Given the description of an element on the screen output the (x, y) to click on. 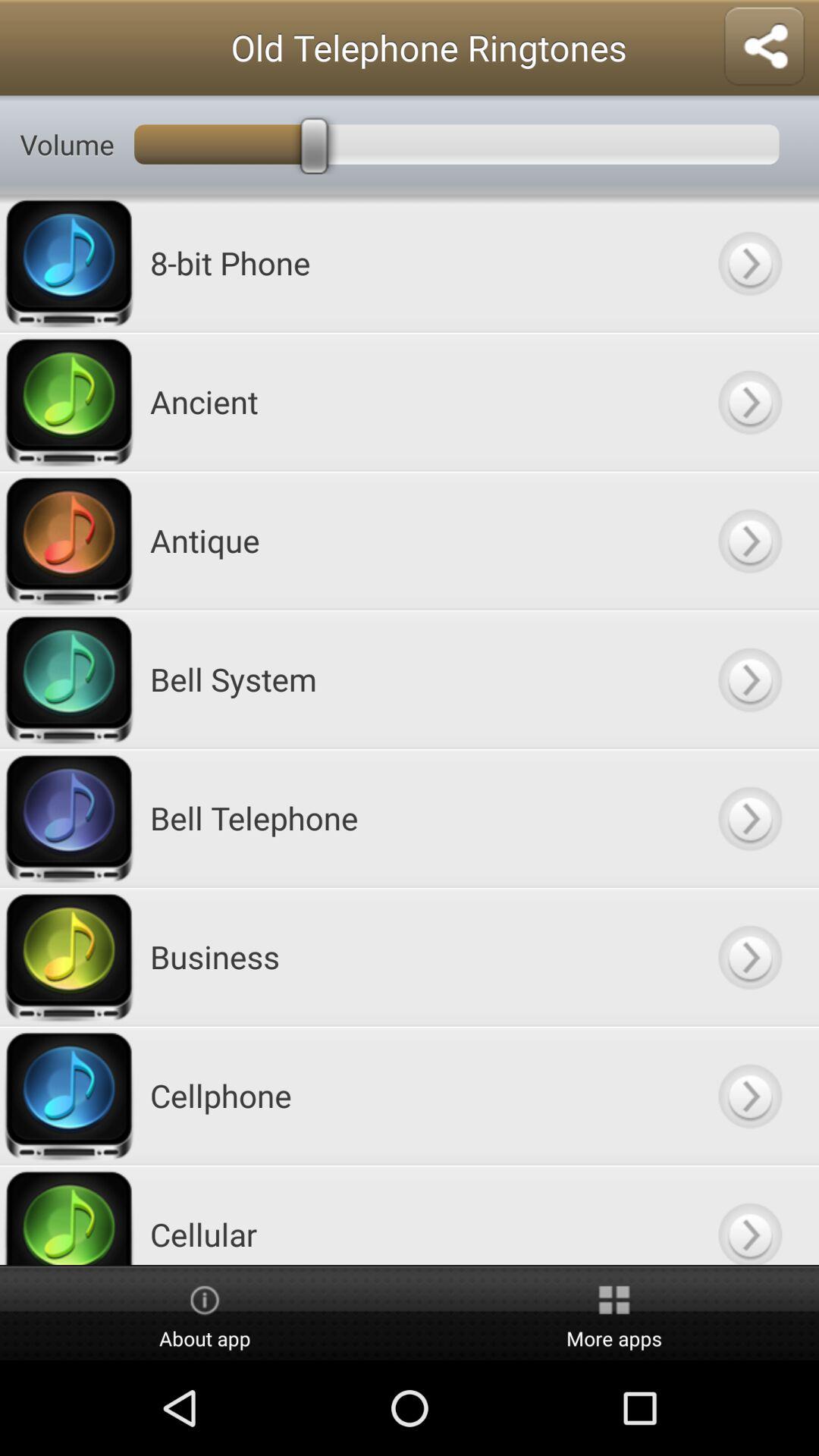
go to next (749, 1095)
